Given the description of an element on the screen output the (x, y) to click on. 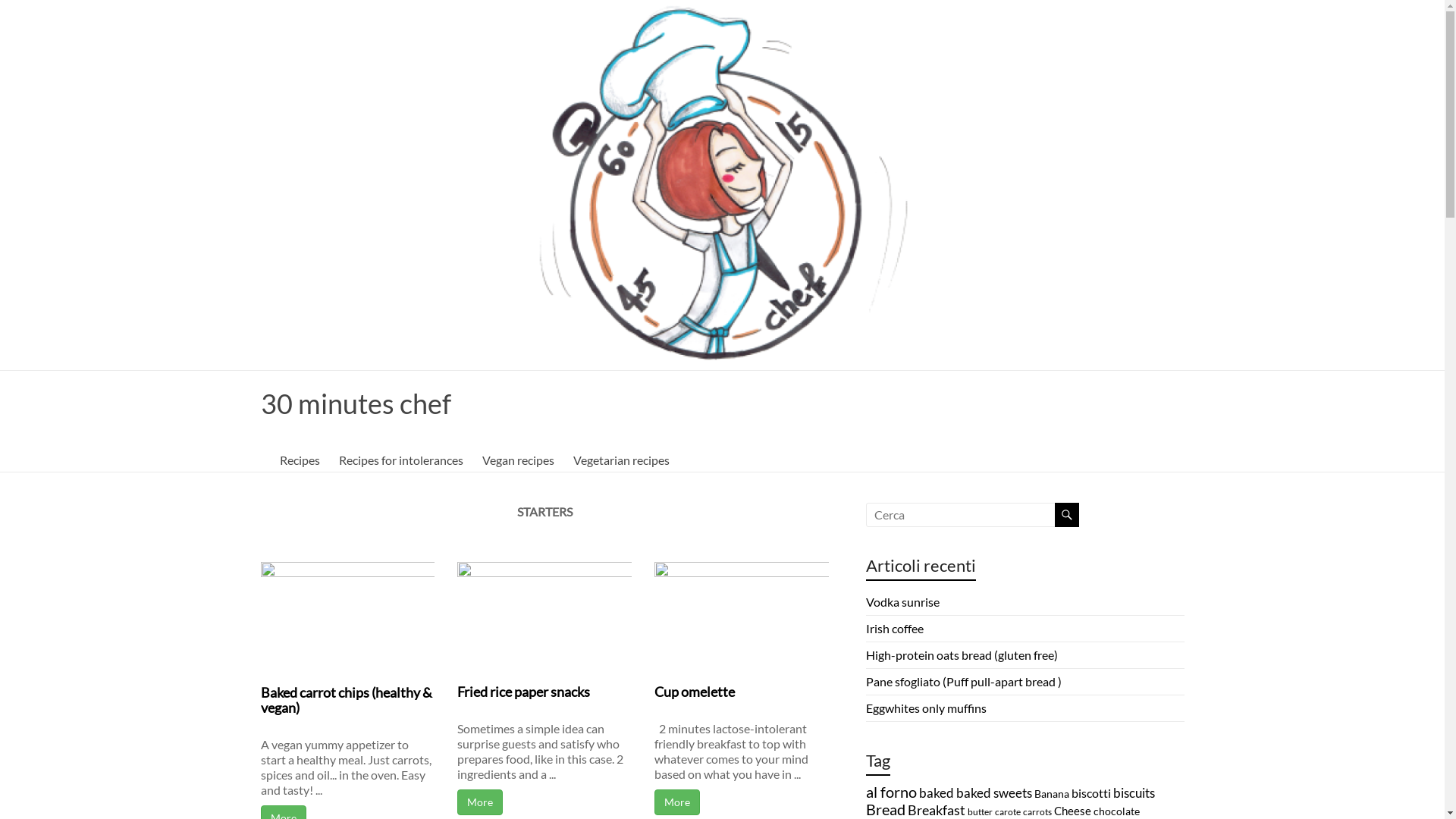
Fried rice paper snacks Element type: text (523, 691)
baked Element type: text (936, 792)
al forno Element type: text (891, 791)
Recipes Element type: text (299, 459)
biscuits Element type: text (1133, 792)
High-protein oats bread (gluten free) Element type: text (961, 654)
Pane sfogliato (Puff pull-apart bread ) Element type: text (963, 681)
chocolate Element type: text (1116, 810)
More Element type: text (479, 802)
baked sweets Element type: text (993, 792)
Baked carrot chips (healthy & vegan) Element type: text (346, 699)
carrots Element type: text (1036, 811)
Vegan recipes Element type: text (518, 459)
Irish coffee Element type: text (894, 628)
Recipes for intolerances Element type: text (400, 459)
carote Element type: text (1007, 811)
More Element type: text (676, 802)
Cheese Element type: text (1072, 810)
Vegetarian recipes Element type: text (621, 459)
Banana Element type: text (1051, 793)
Eggwhites only muffins Element type: text (926, 707)
Bread Element type: text (885, 809)
butter Element type: text (979, 811)
Cup omelette Element type: text (694, 691)
Breakfast Element type: text (935, 809)
biscotti Element type: text (1090, 792)
30 minutes chef Element type: text (355, 403)
Vodka sunrise Element type: text (902, 601)
